Given the description of an element on the screen output the (x, y) to click on. 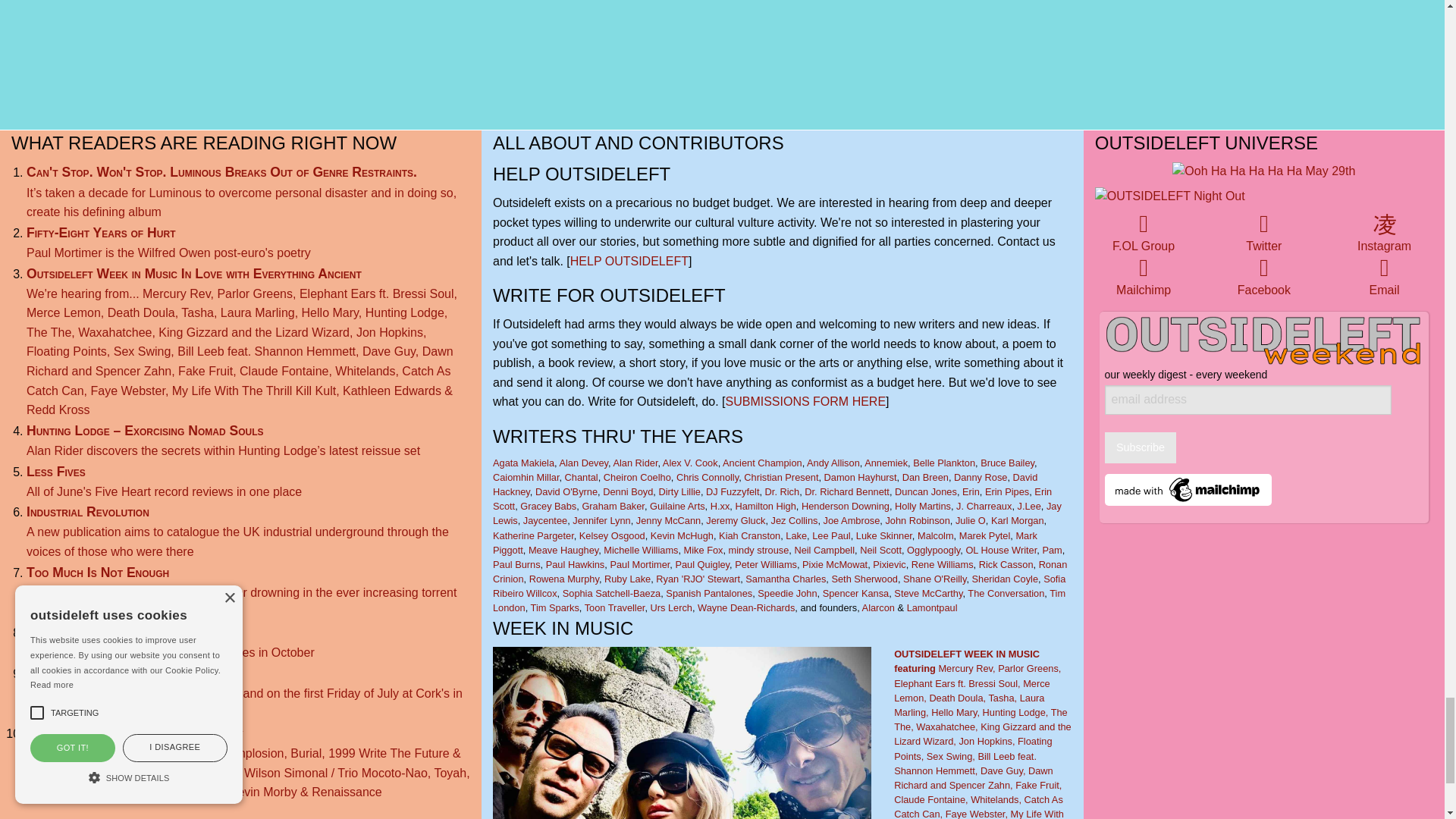
Mailchimp - email marketing made easy and fun (1188, 489)
Subscribe (1140, 447)
